Given the description of an element on the screen output the (x, y) to click on. 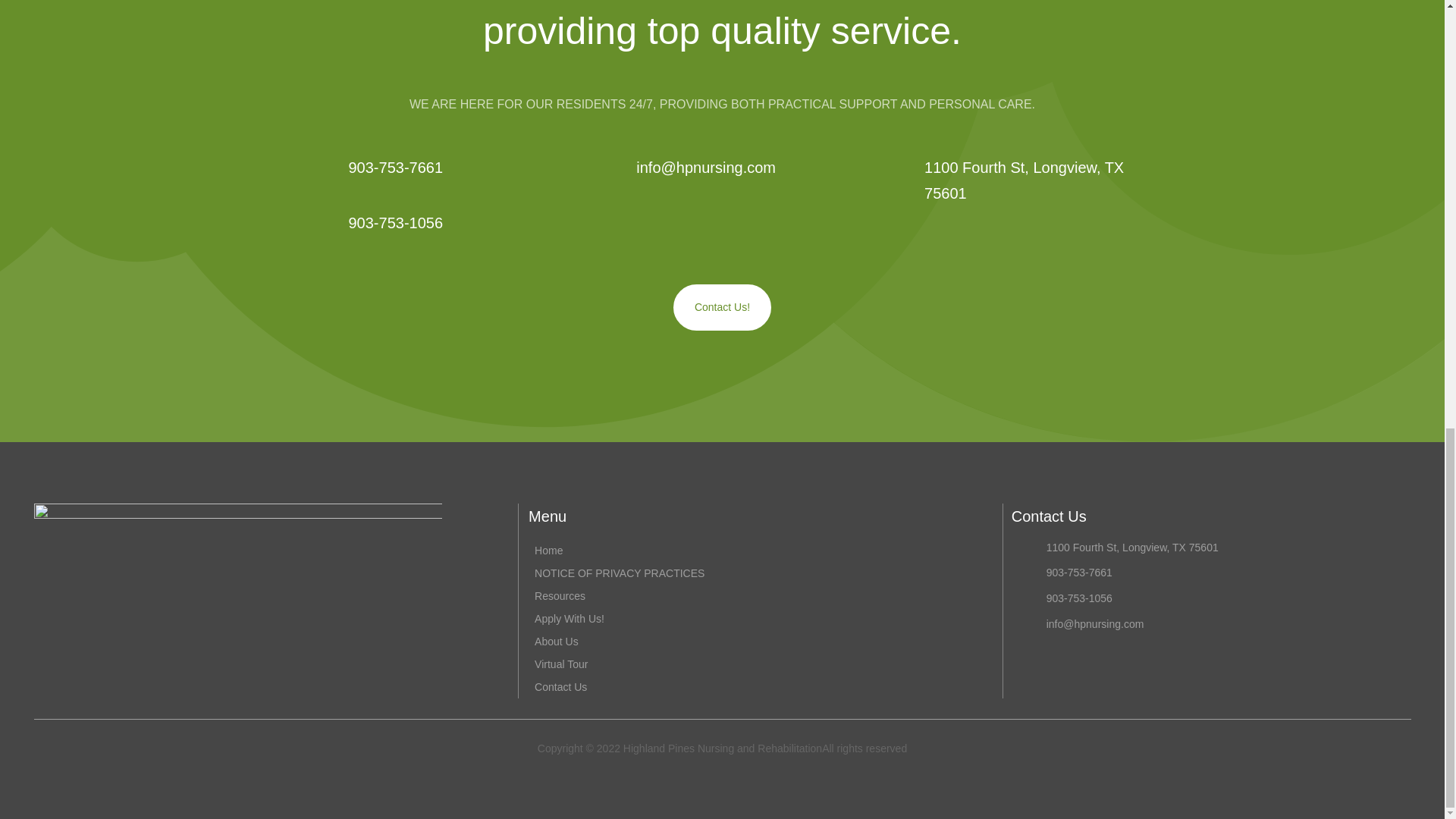
Home (548, 552)
NOTICE OF PRIVACY PRACTICES (619, 575)
Resources (559, 597)
Apply With Us! (569, 620)
Virtual Tour (561, 666)
About Us (556, 643)
Contact Us! (721, 307)
Contact Us (560, 688)
